Given the description of an element on the screen output the (x, y) to click on. 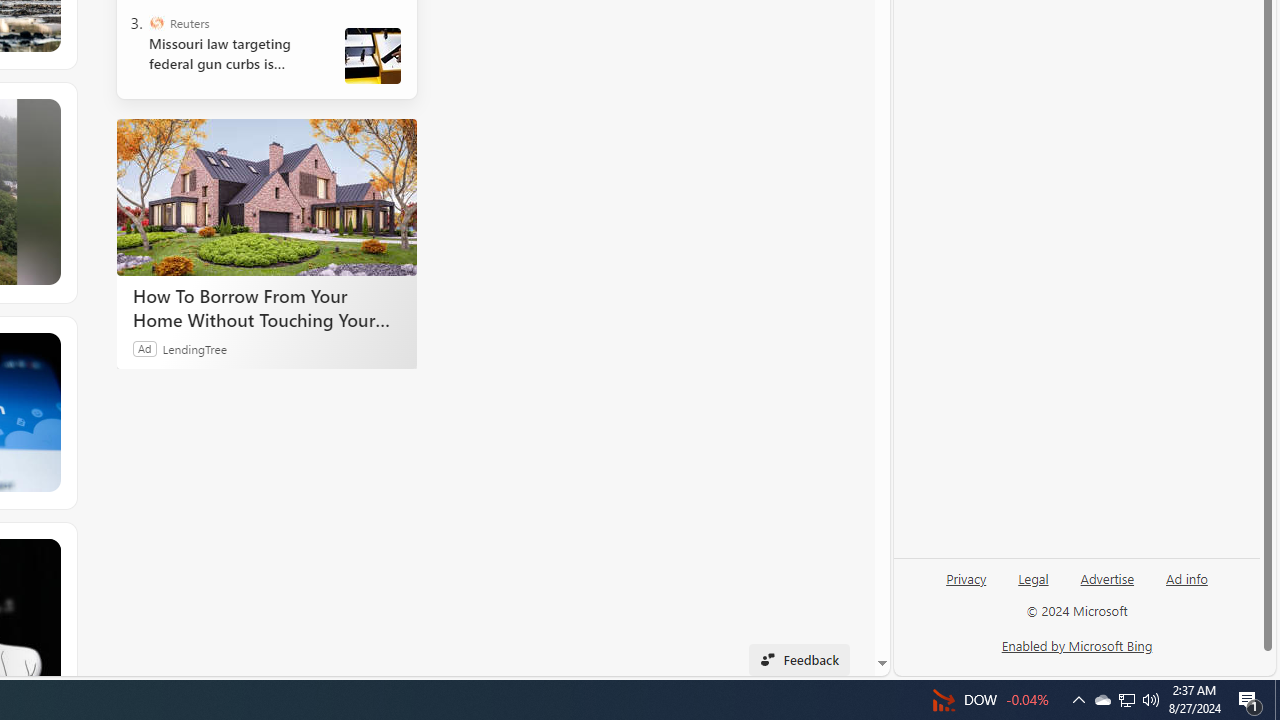
Legal (1033, 577)
Ad info (1186, 586)
How To Borrow From Your Home Without Touching Your Mortgage (266, 307)
Privacy (966, 586)
How To Borrow From Your Home Without Touching Your Mortgage (266, 196)
Ad info (1187, 577)
LendingTree (194, 348)
Privacy (965, 577)
Reuters (156, 22)
Legal (1033, 586)
